Given the description of an element on the screen output the (x, y) to click on. 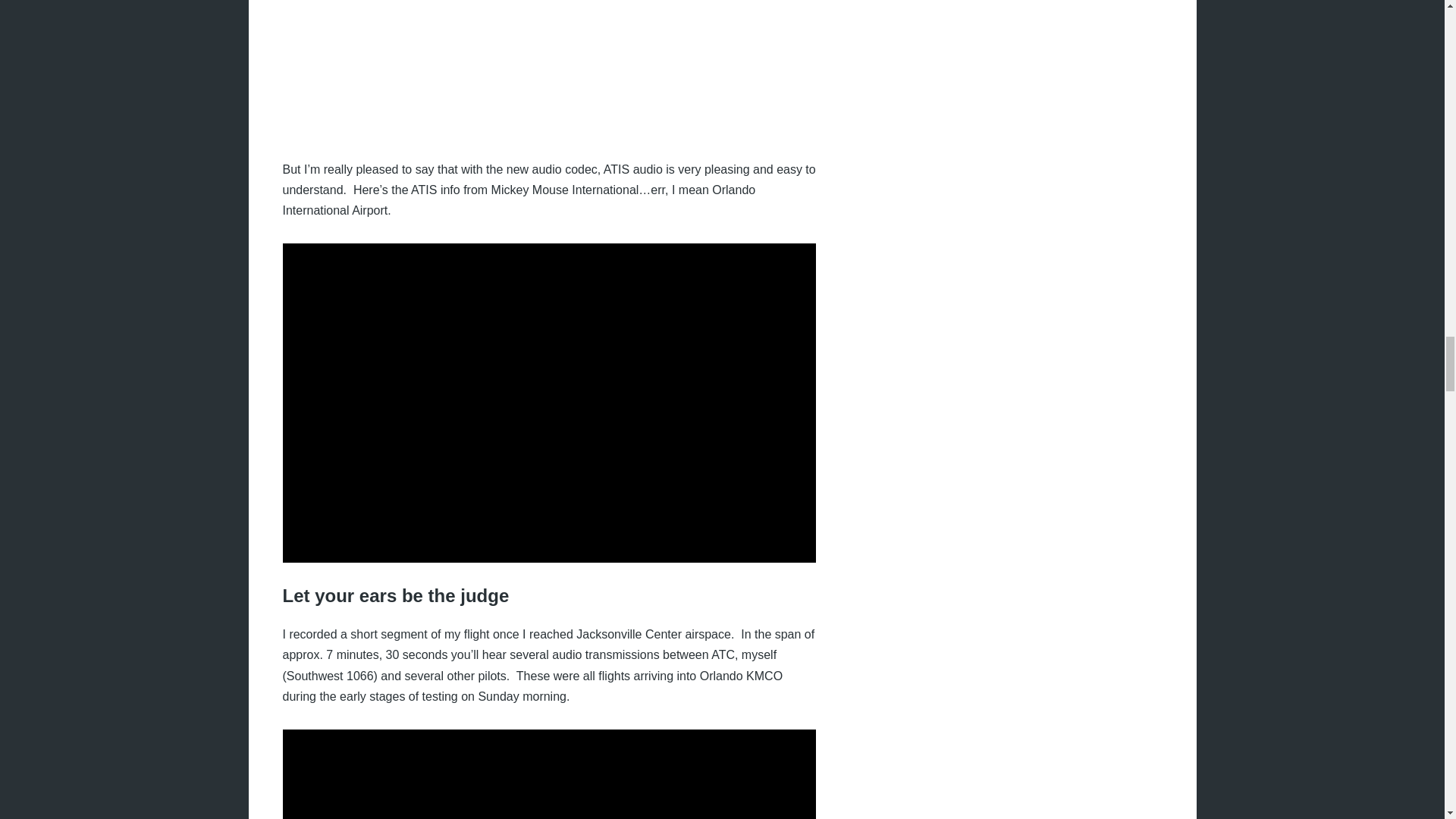
YouTube video player (548, 774)
